Given the description of an element on the screen output the (x, y) to click on. 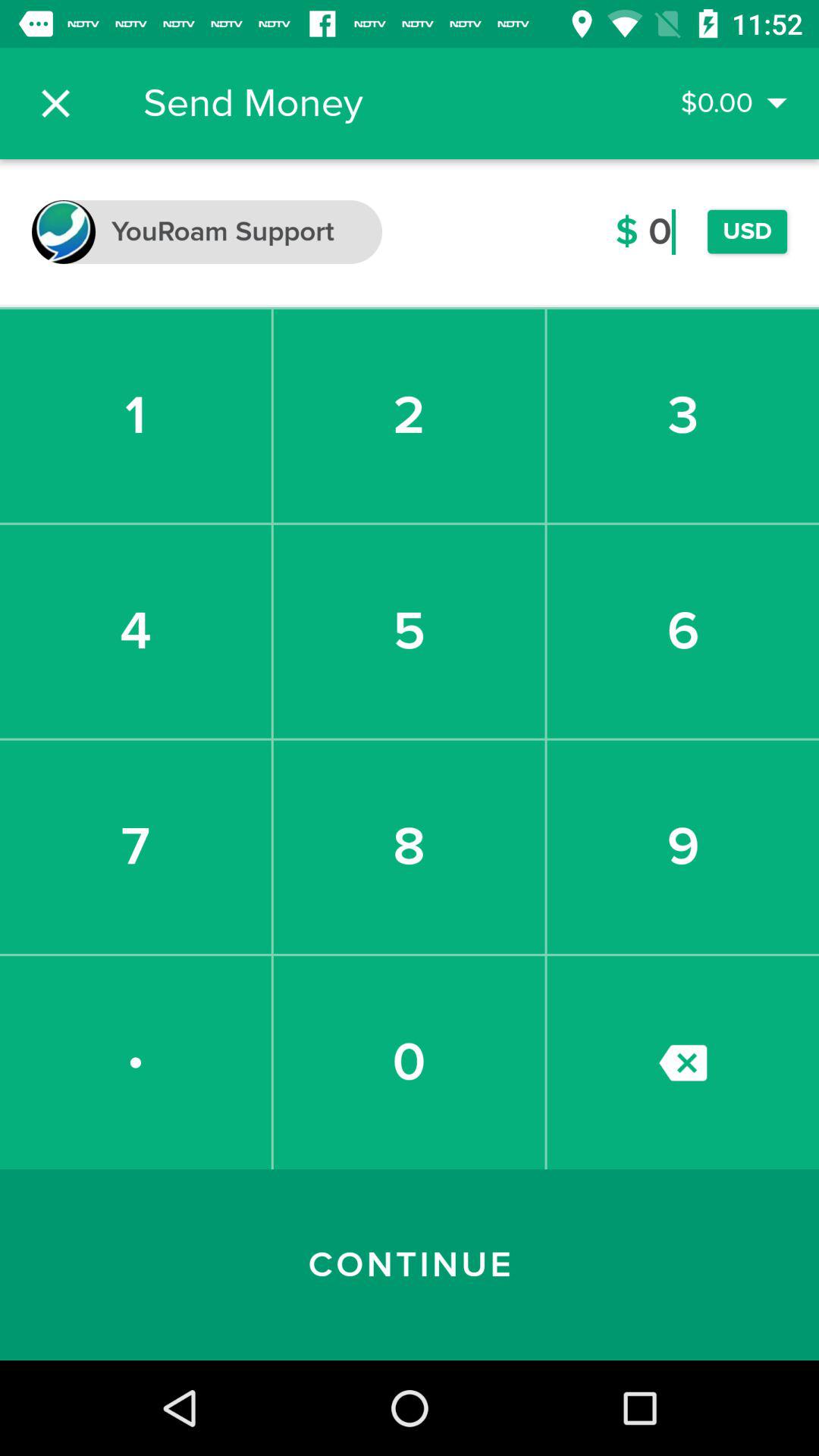
flip to the 5 item (408, 631)
